Given the description of an element on the screen output the (x, y) to click on. 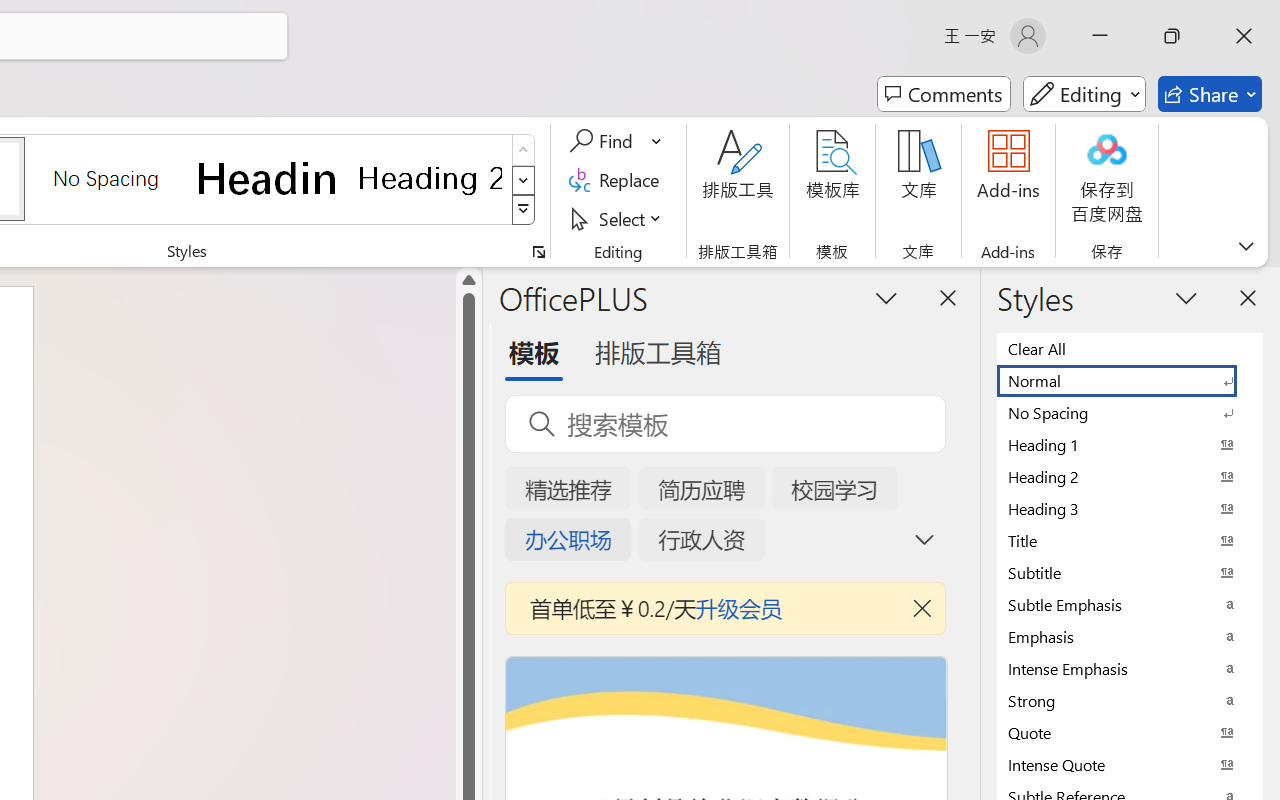
Close (1244, 36)
Subtitle (1130, 572)
Emphasis (1130, 636)
Title (1130, 540)
Heading 1 (267, 178)
Restore Down (1172, 36)
